Given the description of an element on the screen output the (x, y) to click on. 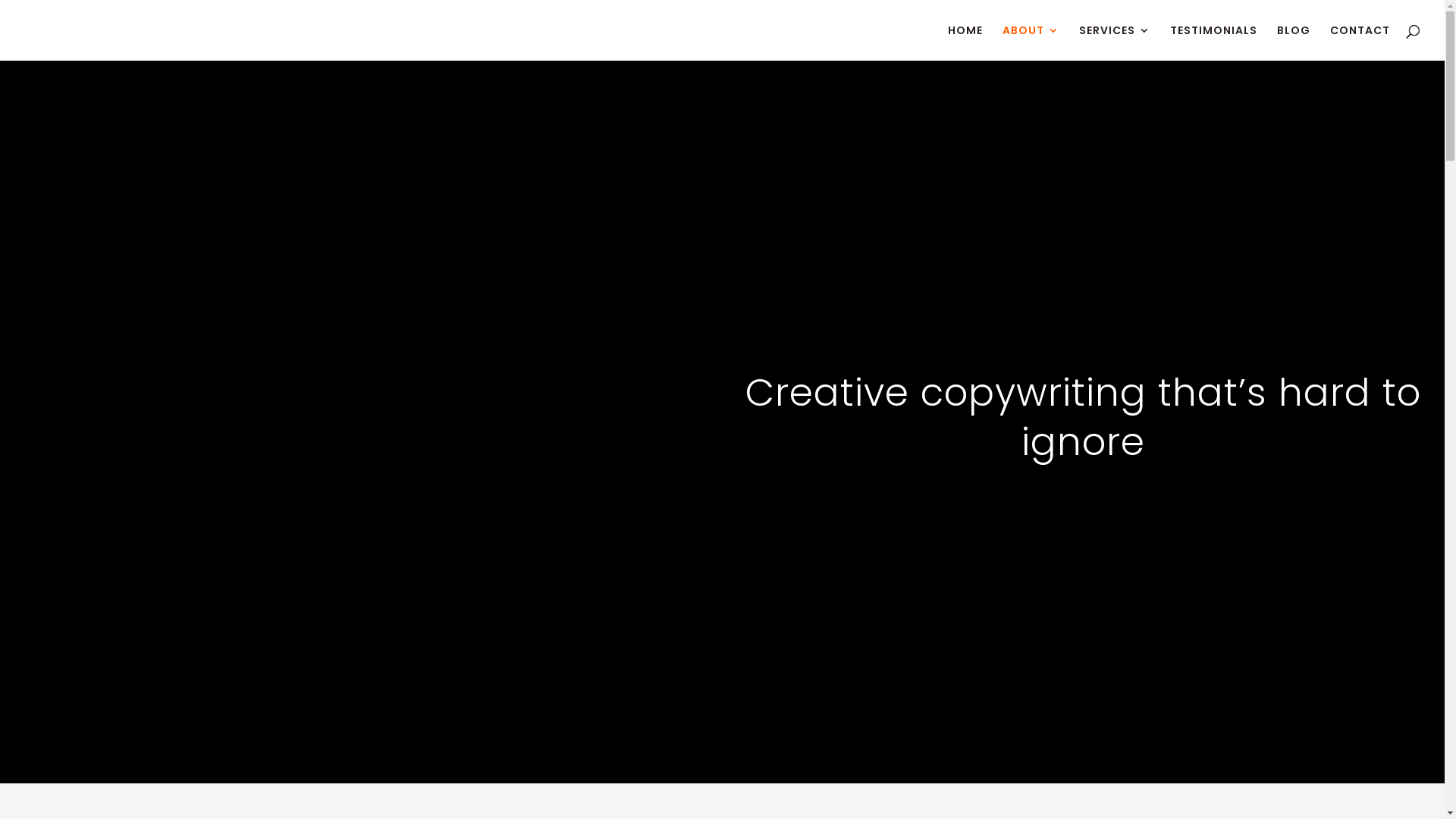
CONTACT Element type: text (1360, 42)
BLOG Element type: text (1293, 42)
ABOUT Element type: text (1030, 42)
HOME Element type: text (964, 42)
SERVICES Element type: text (1114, 42)
TESTIMONIALS Element type: text (1213, 42)
